Given the description of an element on the screen output the (x, y) to click on. 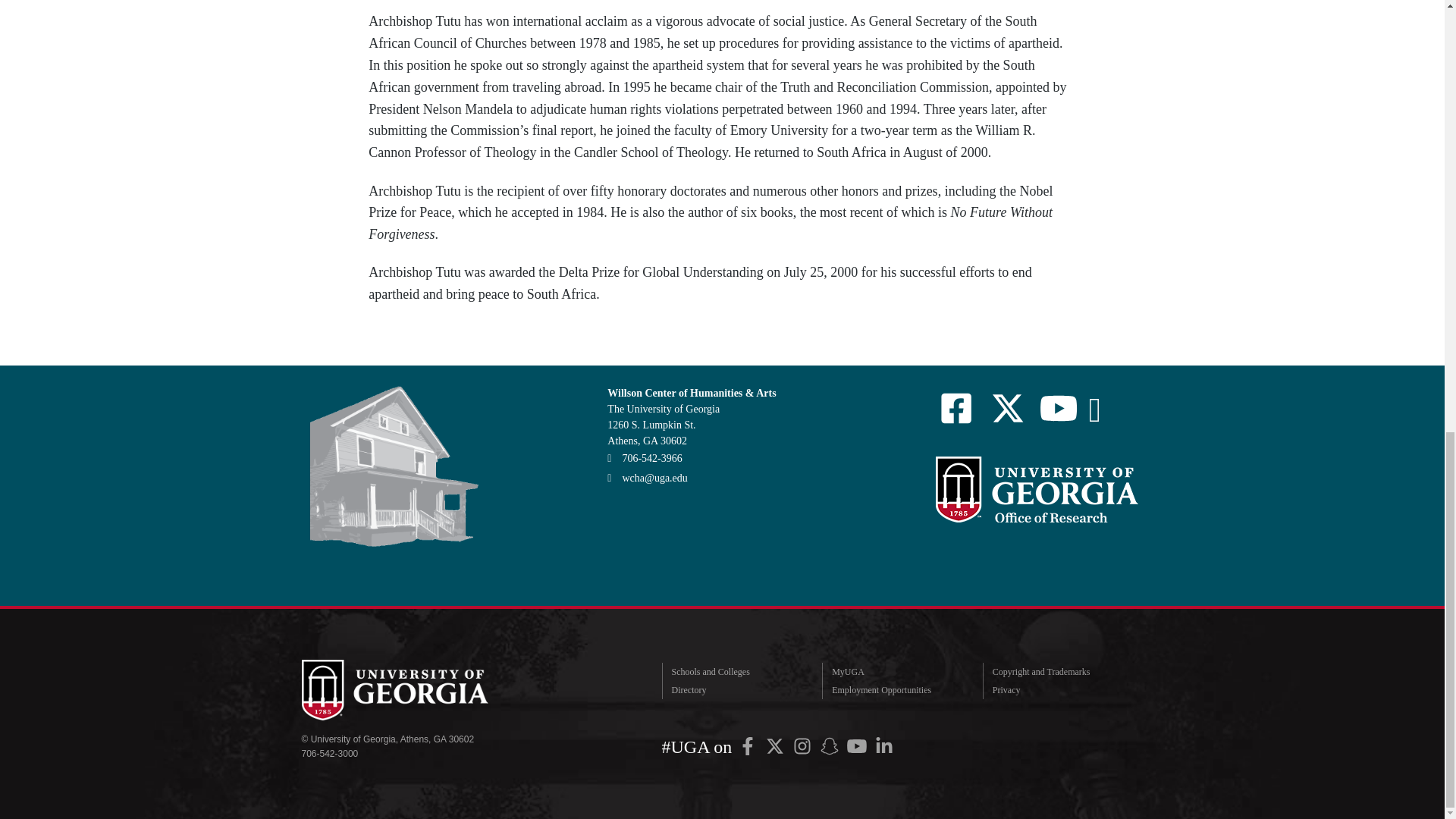
Snapchat (829, 746)
X (774, 746)
YouTube (856, 746)
LinkedIn (883, 746)
Office of the Vice President for Research (1036, 489)
Instagram (801, 746)
Facebook (747, 746)
